Given the description of an element on the screen output the (x, y) to click on. 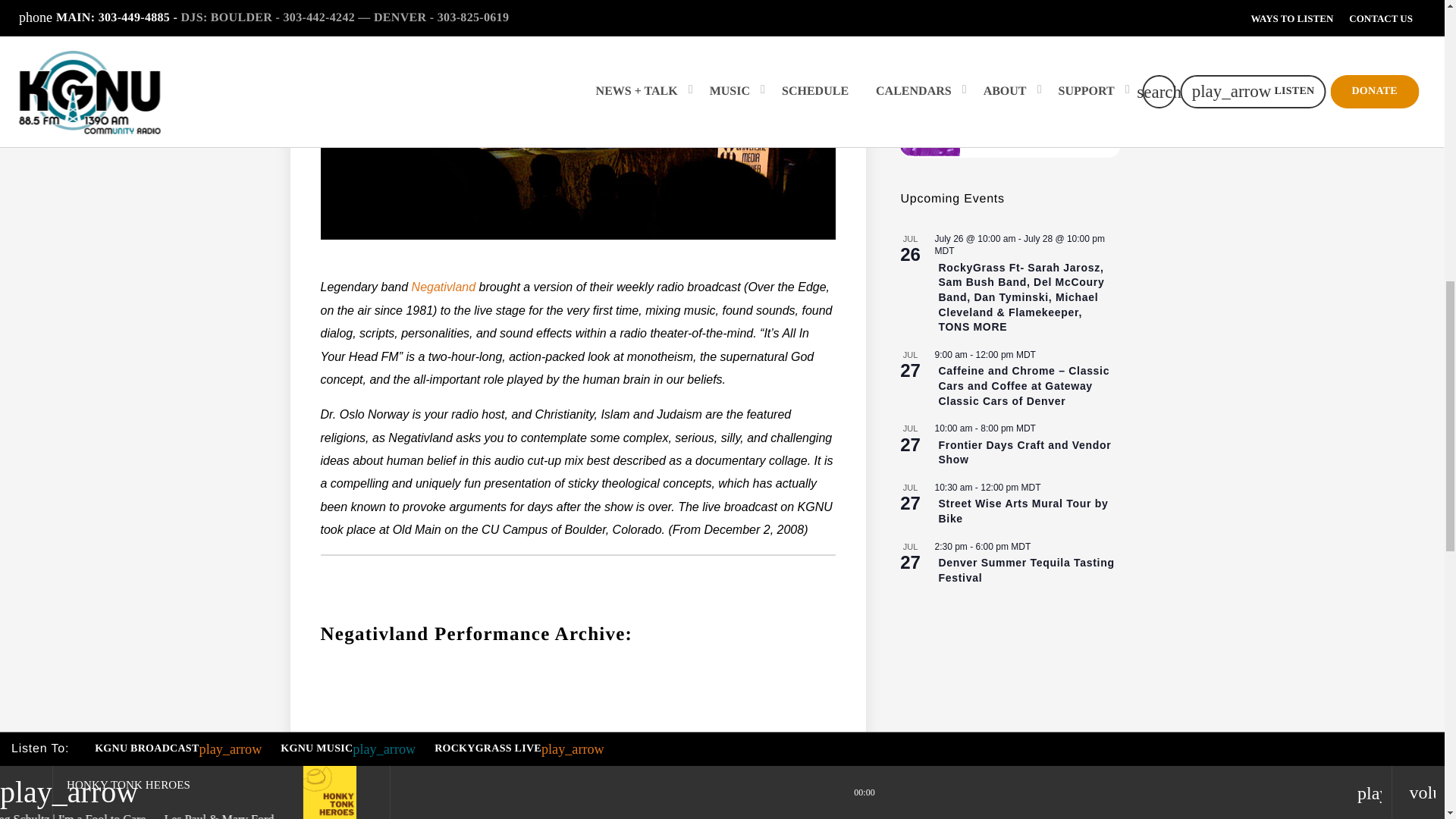
Frontier Days Craft and Vendor Show (1023, 452)
Denver Summer Tequila Tasting Festival (1025, 570)
Street Wise Arts Mural Tour by Bike (1022, 511)
